Given the description of an element on the screen output the (x, y) to click on. 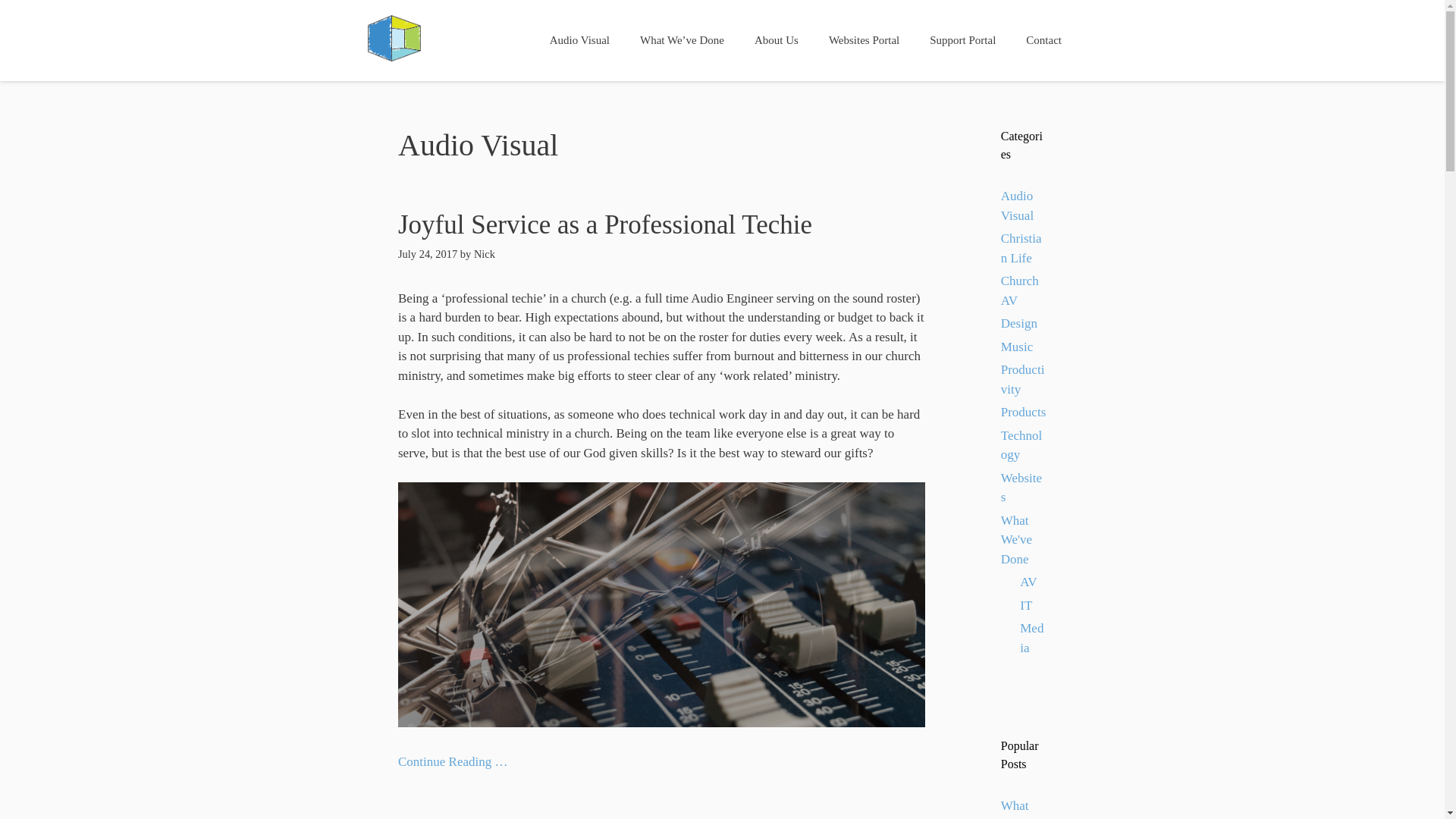
Websites Portal (863, 40)
Joyful Service as a Professional Techie (604, 224)
About Us (776, 40)
Nick (484, 254)
View all posts by Nick (484, 254)
Audio Visual (579, 40)
Contact (1043, 40)
Support Portal (962, 40)
